Given the description of an element on the screen output the (x, y) to click on. 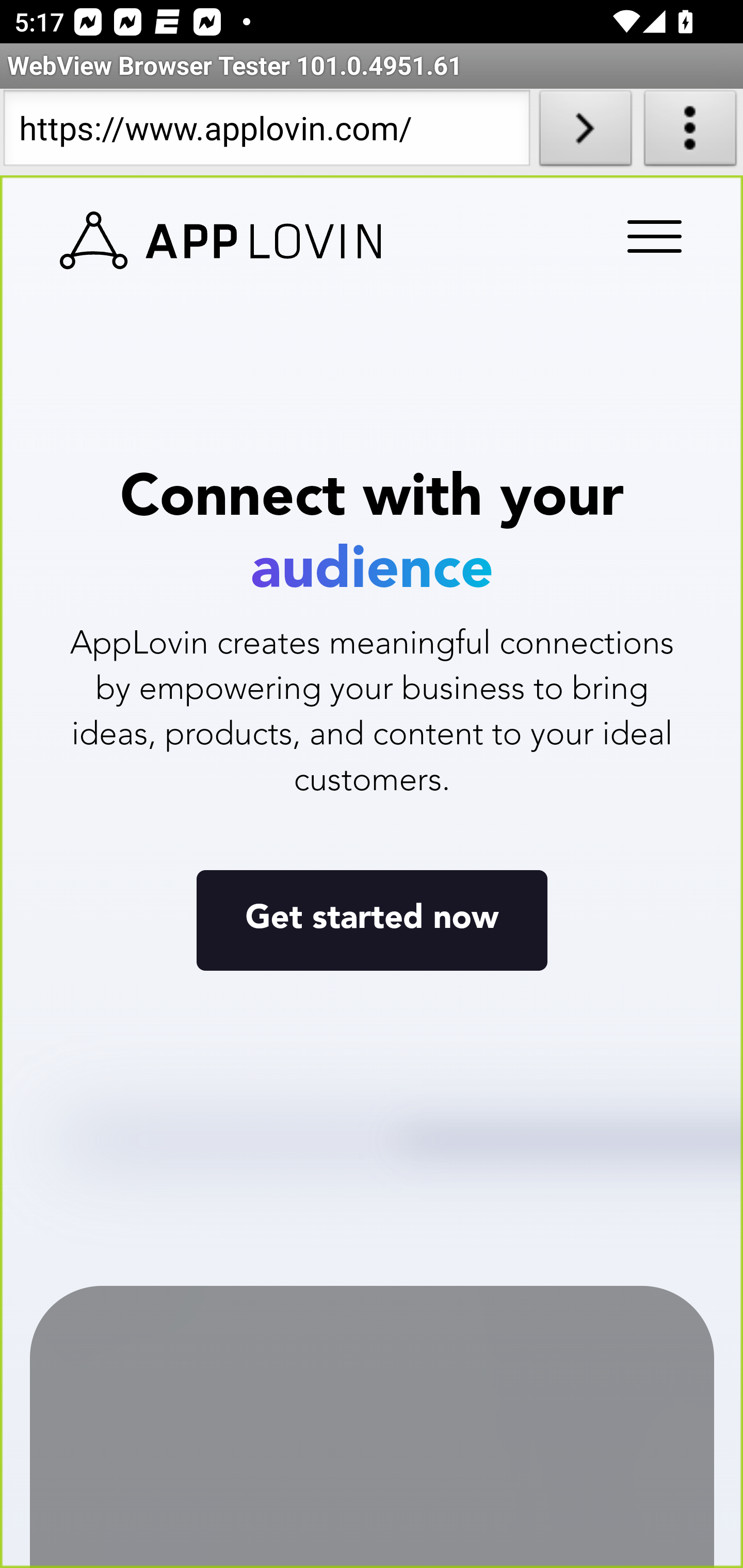
https://www.applovin.com/ (266, 132)
Load URL (585, 132)
About WebView (690, 132)
Menu Trigger (650, 237)
www.applovin (220, 241)
Get started now (371, 919)
